Given the description of an element on the screen output the (x, y) to click on. 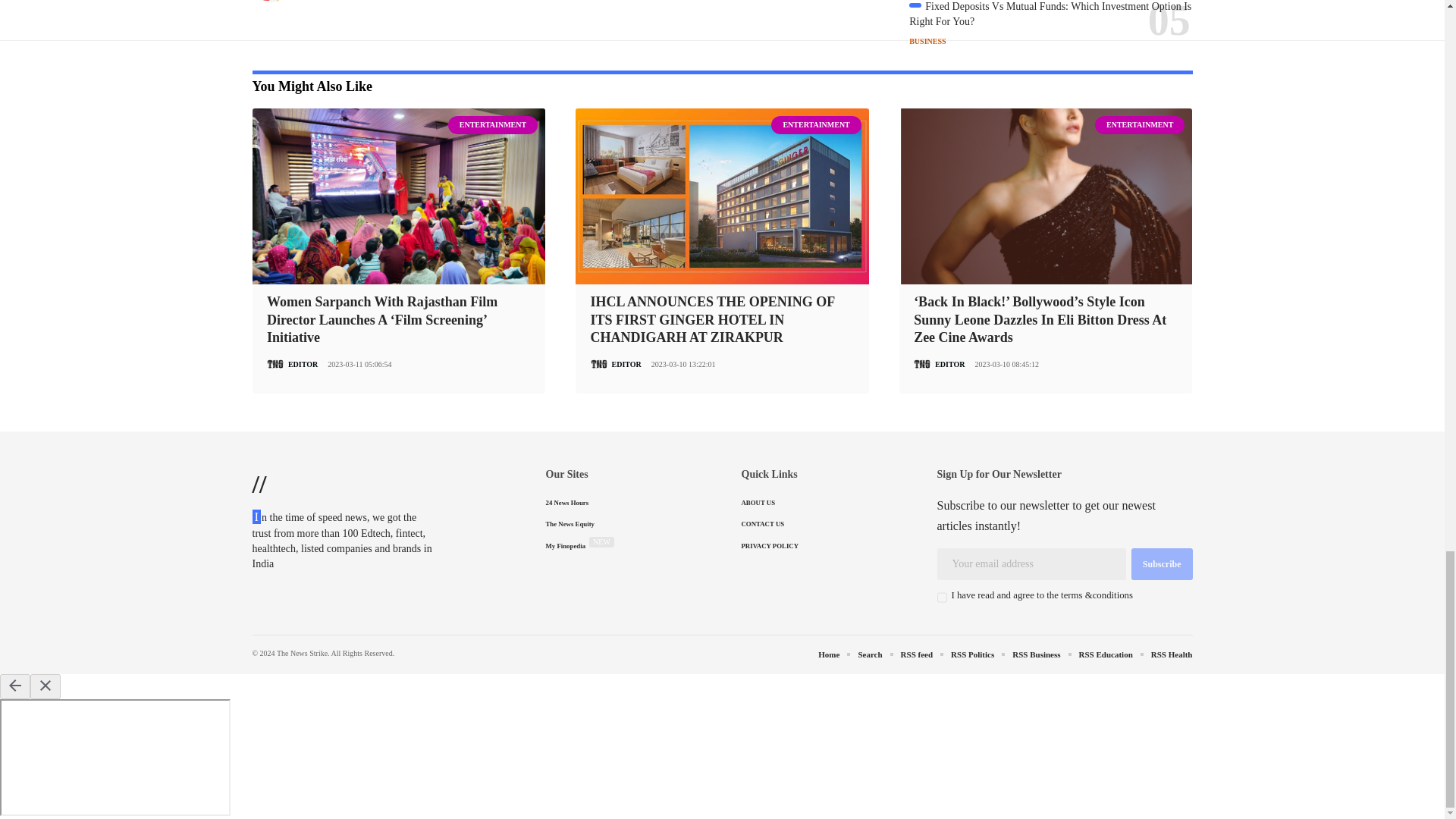
Subscribe (1161, 563)
